Given the description of an element on the screen output the (x, y) to click on. 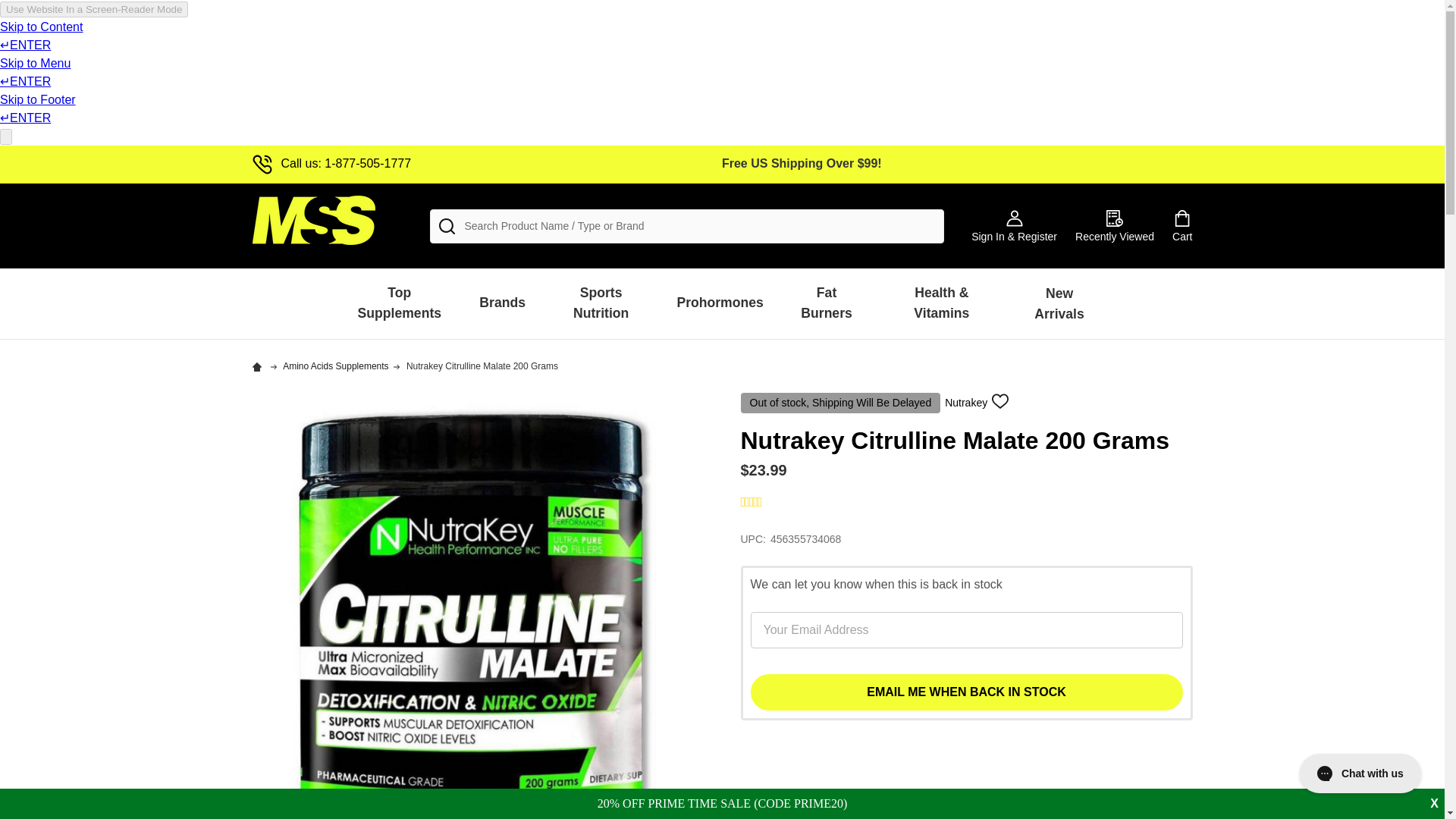
Cart (1182, 225)
Top Supplements (398, 302)
Brands (502, 302)
Top Supplements (398, 302)
Call us: 1-877-505-1777 (330, 163)
Cart (1182, 225)
Recently Viewed (1114, 225)
Recently Viewed (1114, 225)
Brands (502, 302)
Sports Nutrition (601, 302)
My Supplement Store (312, 219)
